Given the description of an element on the screen output the (x, y) to click on. 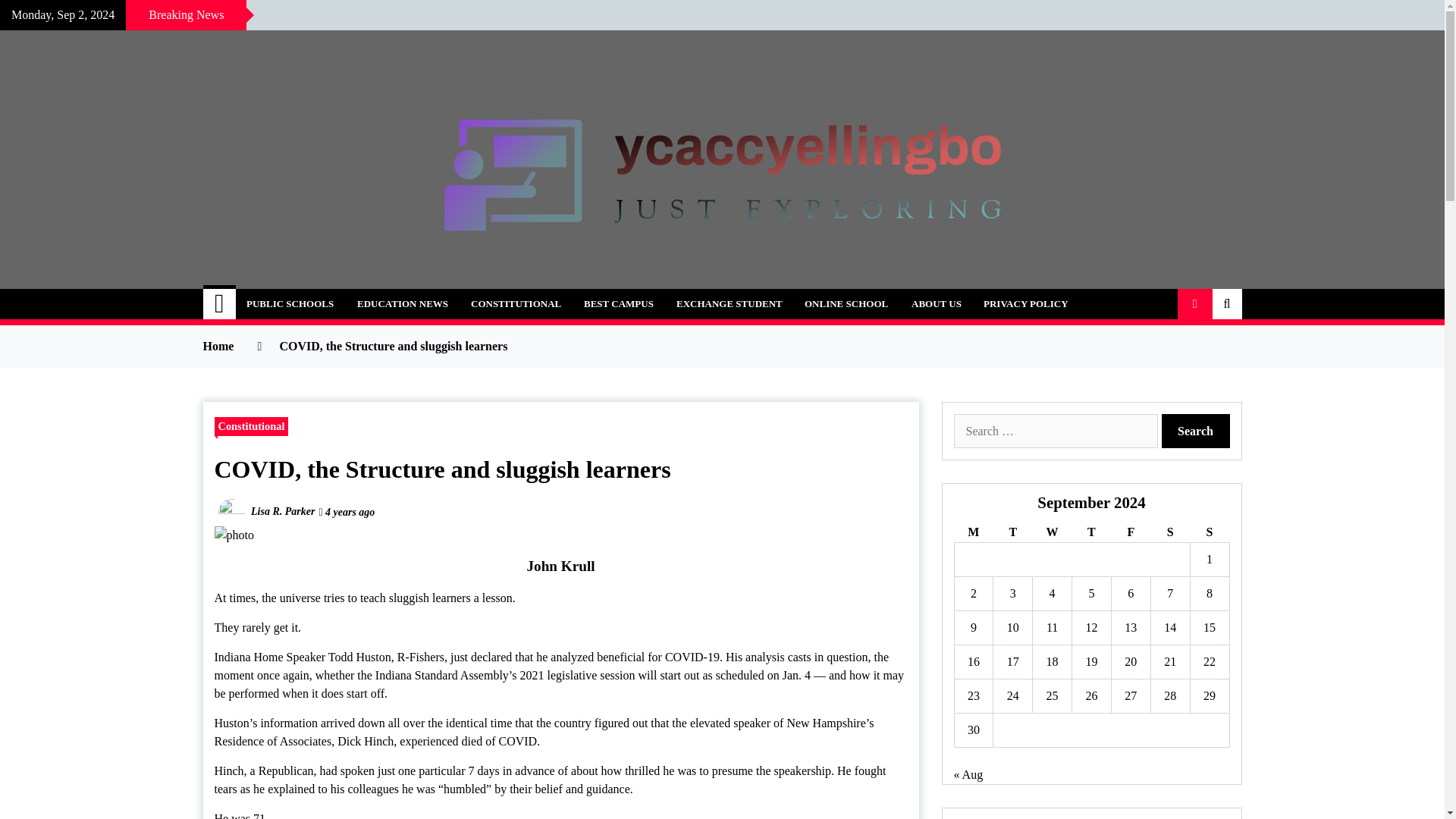
photo (233, 535)
Sunday (1208, 532)
Saturday (1169, 532)
EXCHANGE STUDENT (729, 304)
EDUCATION NEWS (403, 304)
ABOUT US (935, 304)
Tuesday (1012, 532)
Thursday (1091, 532)
Friday (1130, 532)
Search (1195, 430)
